Given the description of an element on the screen output the (x, y) to click on. 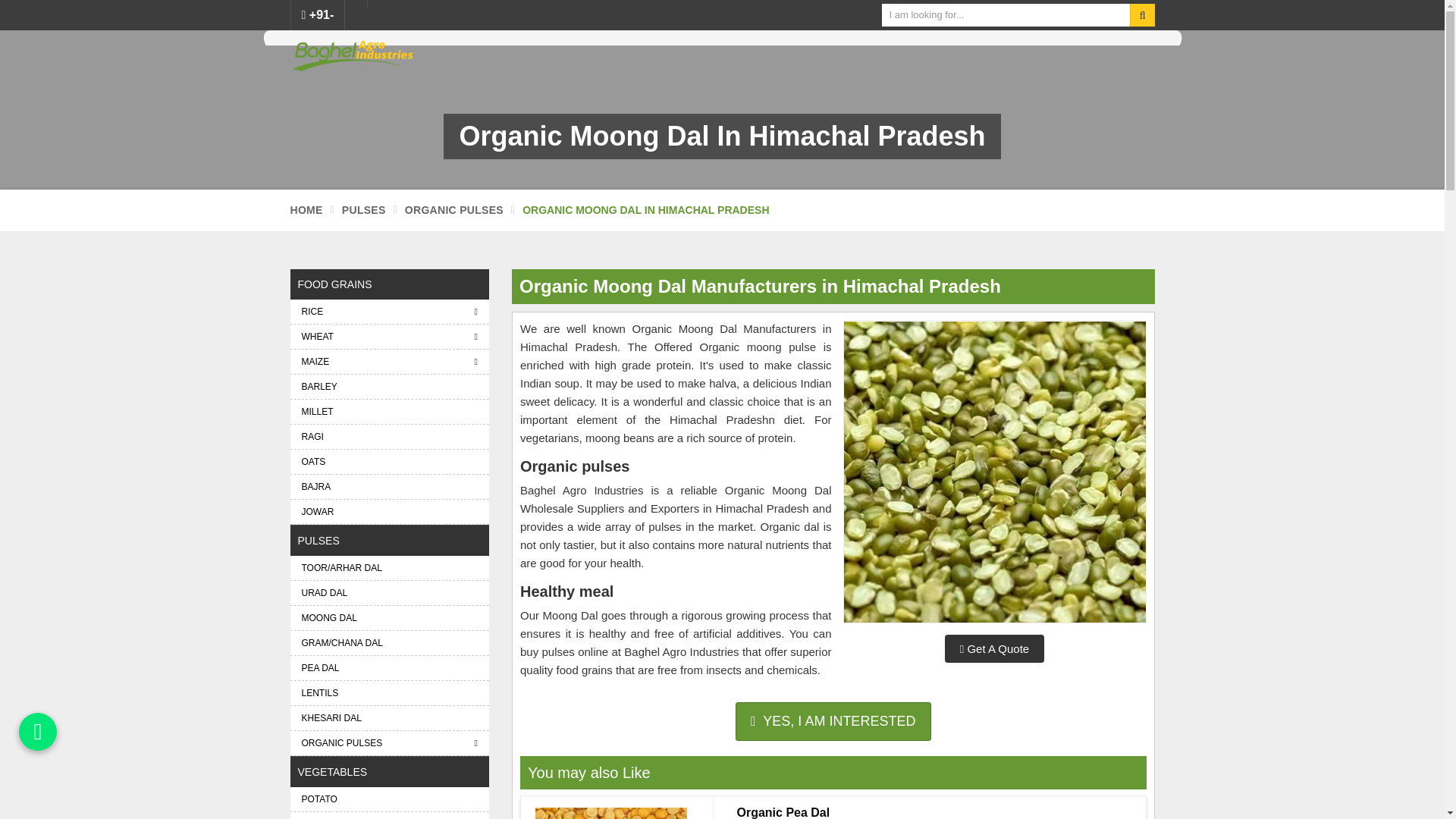
Organic Pea Dal (935, 811)
RICE (389, 311)
 Organic Moong Dal Manufacturers in Himachal Pradesh (993, 472)
FOOD GRAINS (389, 284)
Call Us (317, 15)
Get A Quote (833, 721)
Pulses (363, 209)
Organic Pulses (453, 209)
Get A Quote (993, 648)
Organic Pea Dal (611, 813)
